Given the description of an element on the screen output the (x, y) to click on. 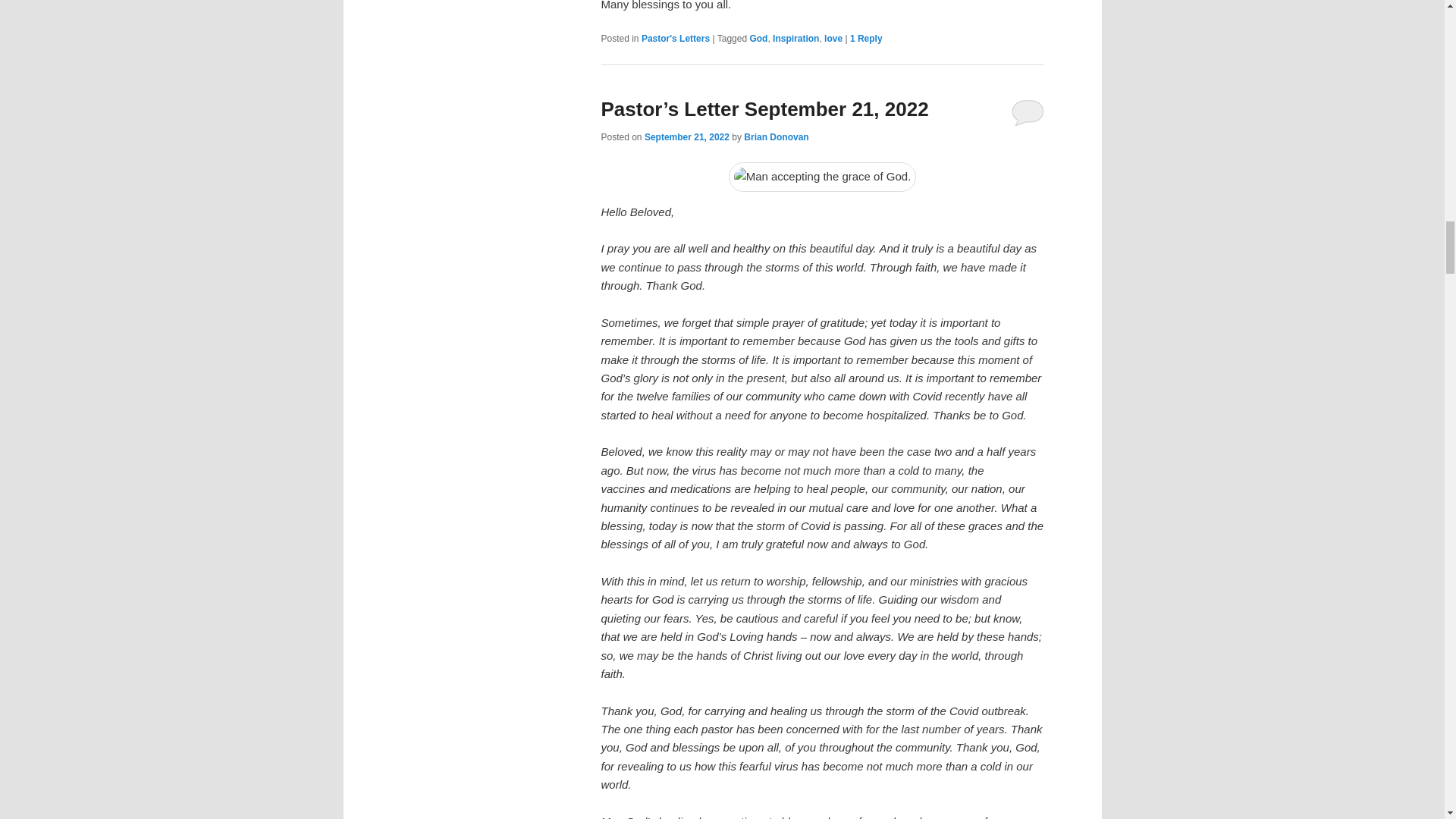
2:18 pm (687, 136)
View all posts by Brian Donovan (776, 136)
